Given the description of an element on the screen output the (x, y) to click on. 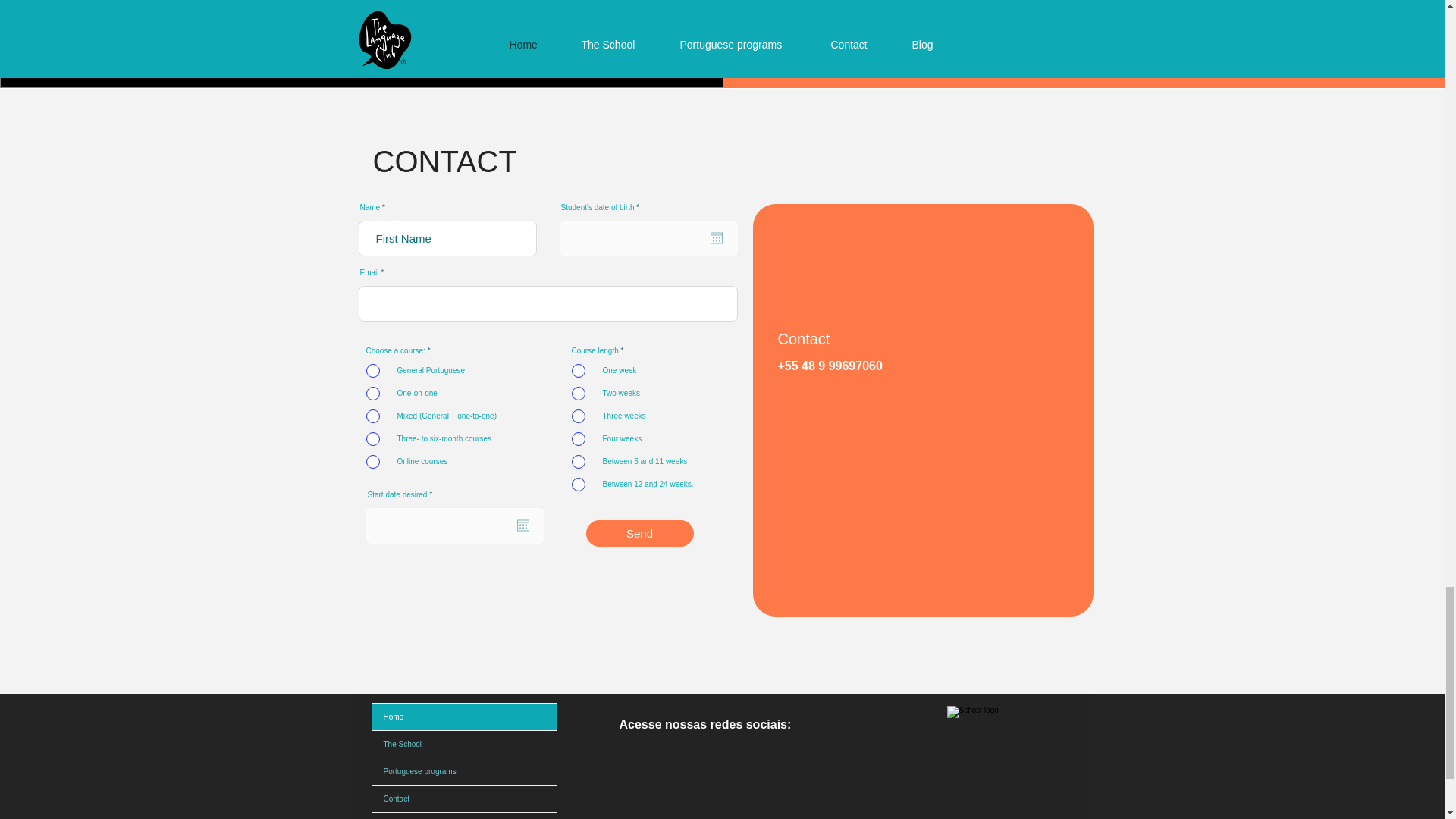
Contact (463, 798)
Acesse nossas redes sociais: (704, 724)
Blog (463, 816)
Home (463, 716)
Send (639, 533)
The School (463, 744)
